Given the description of an element on the screen output the (x, y) to click on. 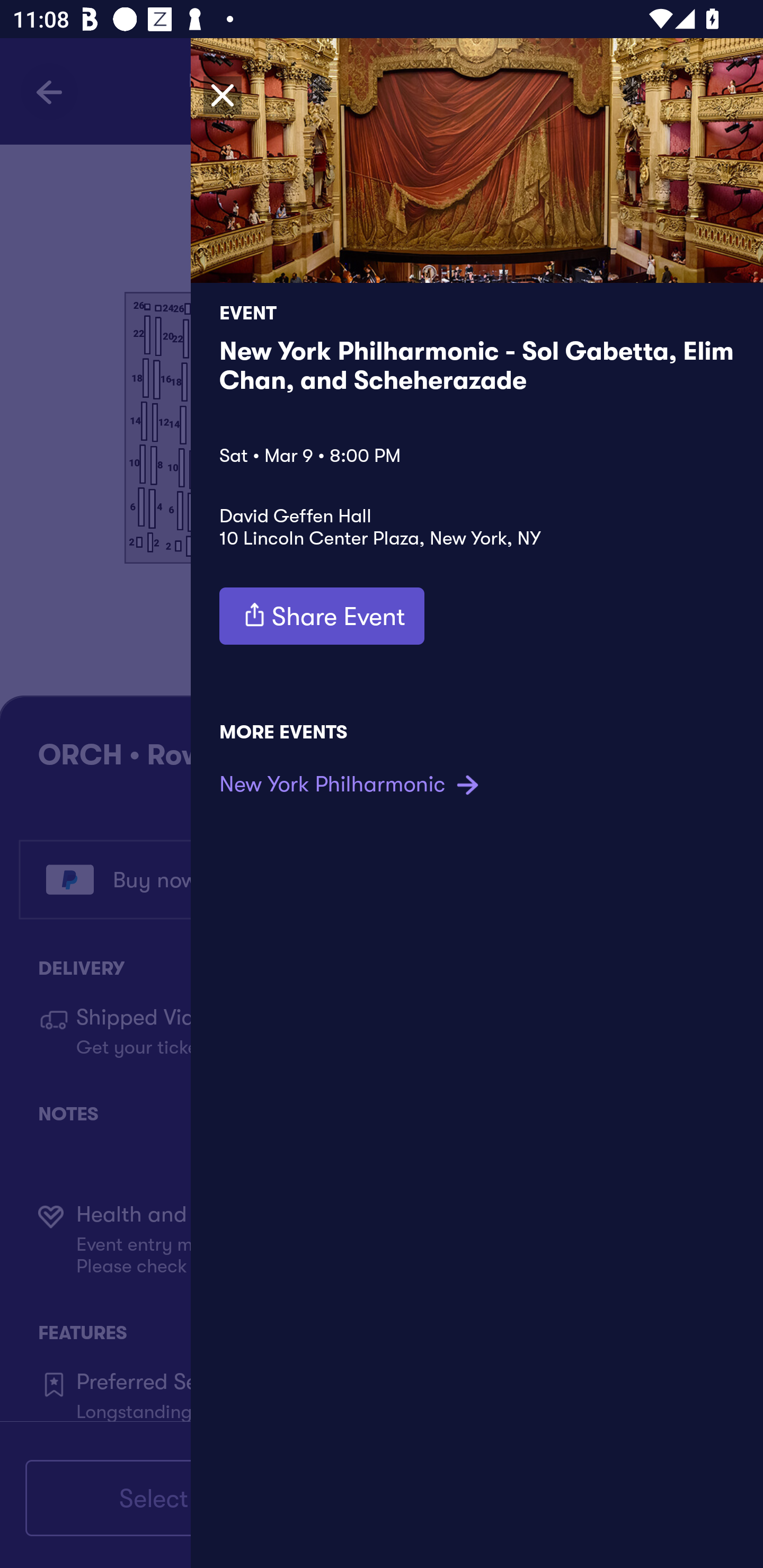
Share Event (321, 616)
New York Philharmonic (351, 783)
